Given the description of an element on the screen output the (x, y) to click on. 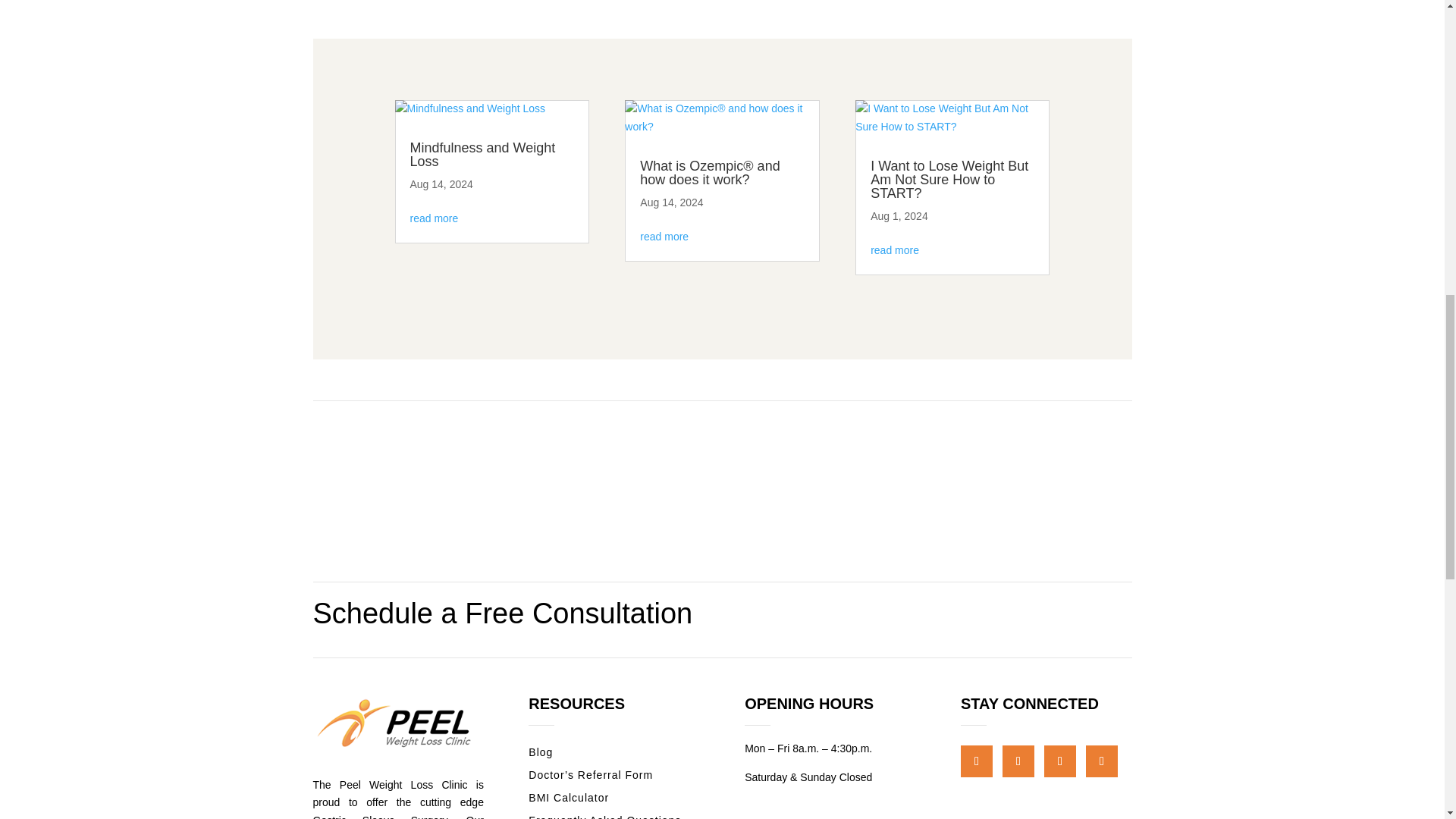
read more (894, 250)
Follow on X (1059, 761)
Follow on Instagram (976, 761)
Mindfulness and Weight Loss (481, 154)
Peel Weight Loss Clinic (398, 724)
read more (433, 218)
read more (664, 236)
Follow on Facebook (1018, 761)
Follow on Youtube (1102, 761)
I Want to Lose Weight But Am Not Sure How to START? (948, 179)
